Given the description of an element on the screen output the (x, y) to click on. 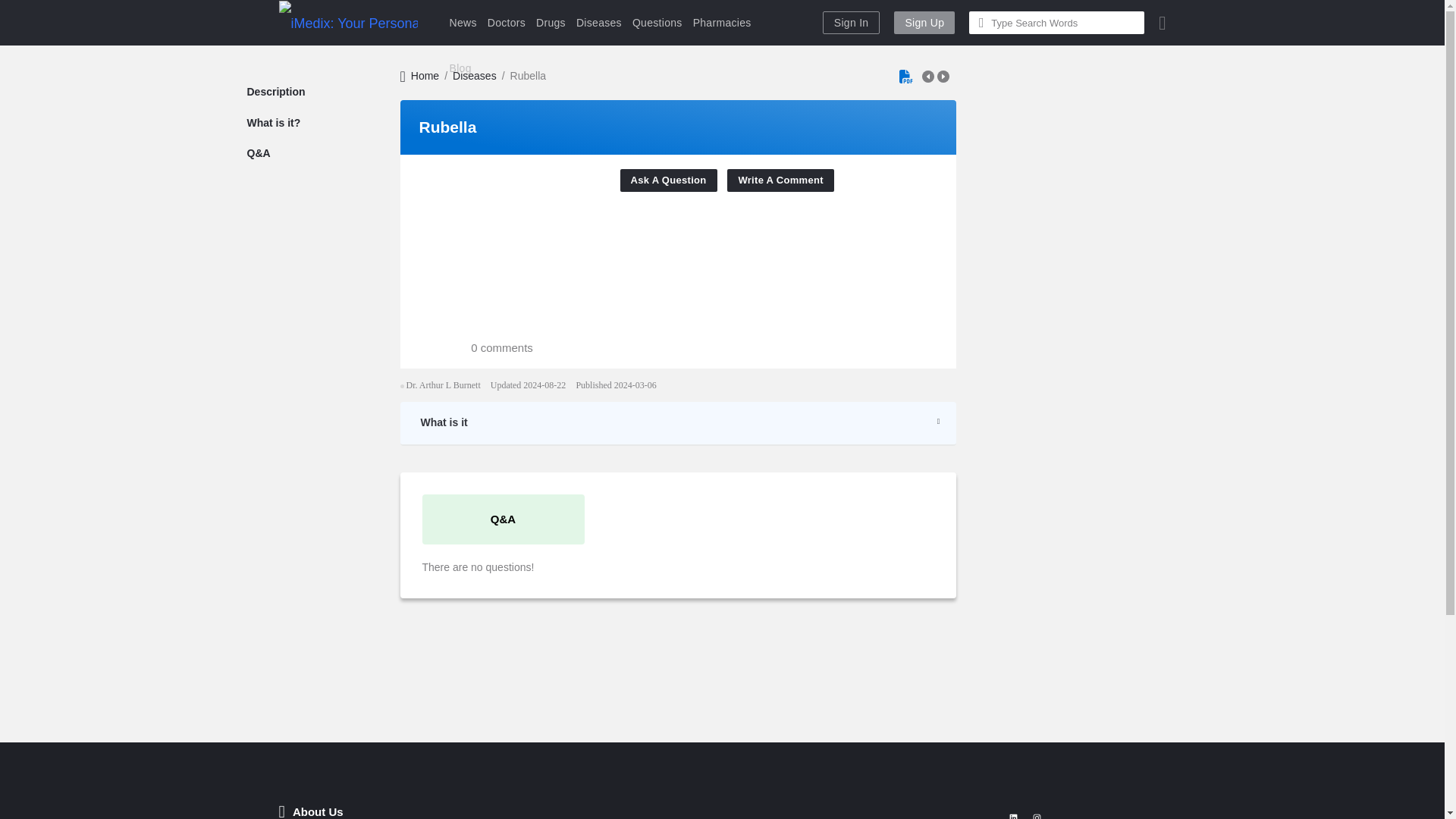
Diseases (598, 22)
What is it? (267, 122)
iMedix: Your Personal Health Advisor. (348, 22)
Home (419, 76)
Diseases (474, 76)
Questions (656, 22)
iMedix: Your Personal Health Advisor. (348, 22)
Home (419, 76)
Sign Up (924, 22)
Description (269, 91)
